Given the description of an element on the screen output the (x, y) to click on. 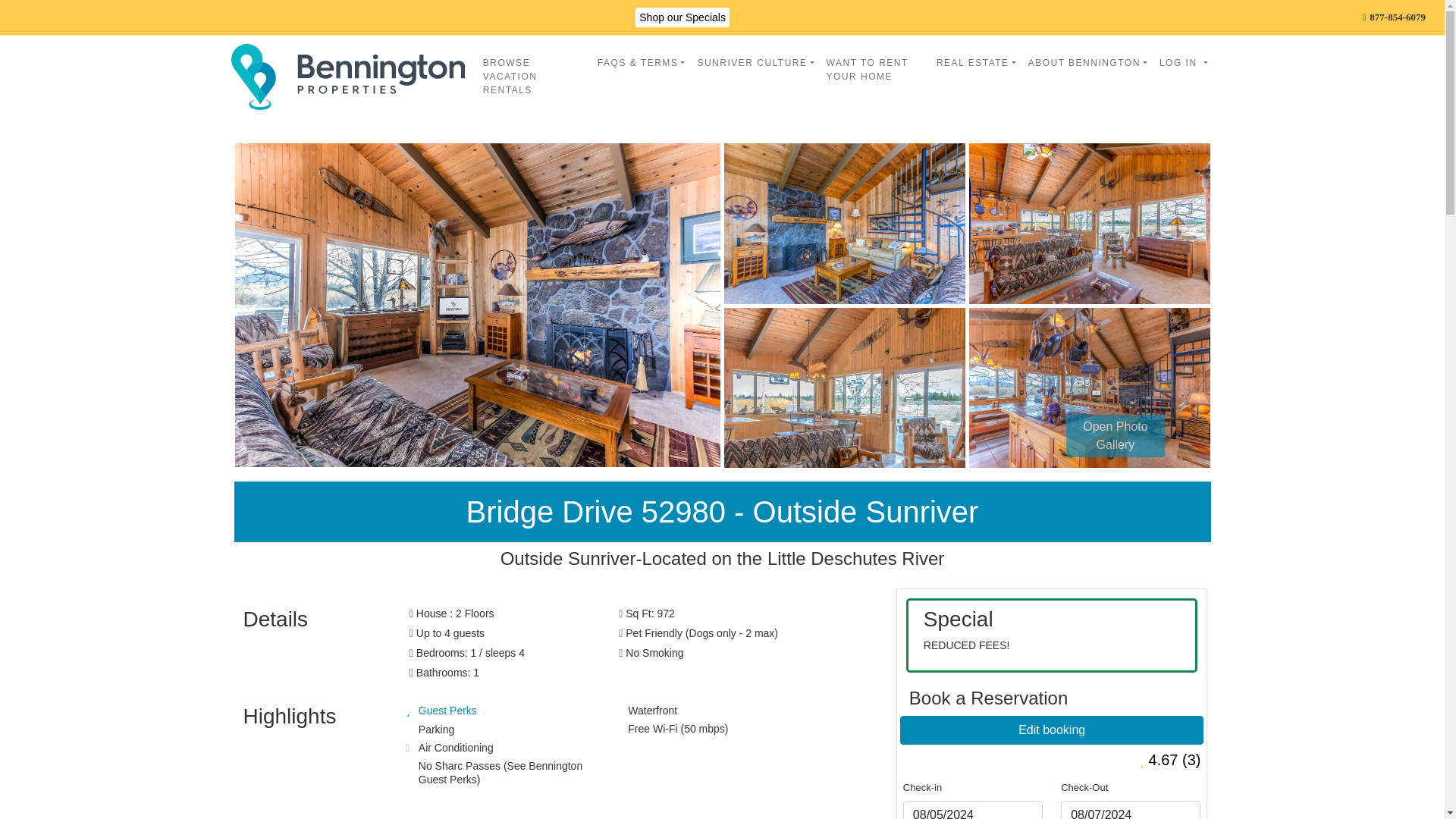
BROWSE VACATION RENTALS (534, 76)
Shop our Specials (681, 17)
LOG IN (1183, 62)
SUNRIVER CULTURE (754, 62)
877-854-6079 (1395, 16)
ABOUT BENNINGTON (1087, 62)
Open Photo Gallery (1114, 435)
REAL ESTATE (976, 62)
Guest Perks (448, 710)
WANT TO RENT YOUR HOME (875, 69)
